Given the description of an element on the screen output the (x, y) to click on. 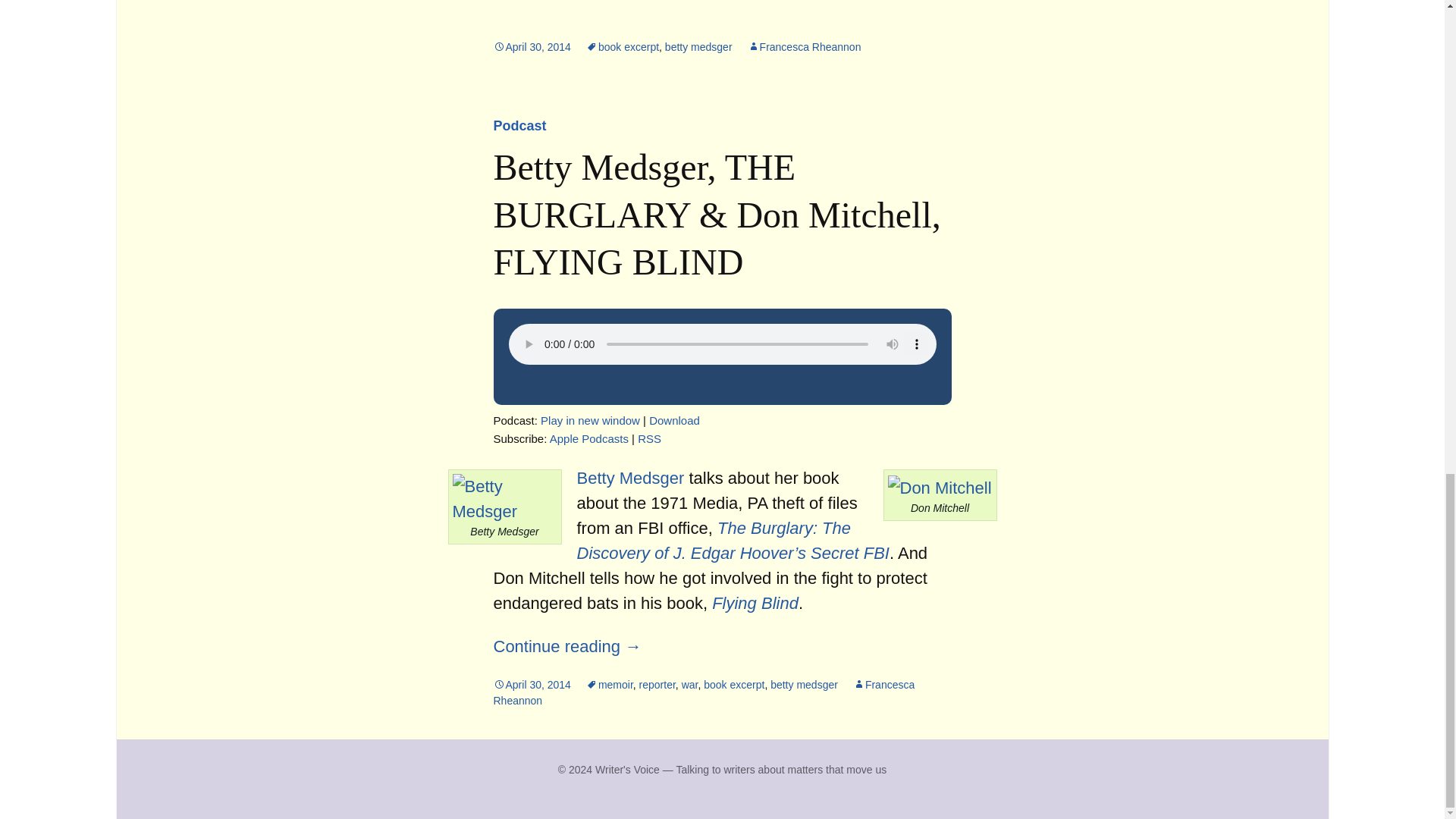
Download (674, 420)
Download (674, 420)
Play in new window (590, 420)
book excerpt (622, 46)
View all posts by Francesca Rheannon (804, 46)
Francesca Rheannon (804, 46)
Podcast (519, 125)
April 30, 2014 (531, 46)
Subscribe via RSS (649, 438)
betty medsger (698, 46)
